Given the description of an element on the screen output the (x, y) to click on. 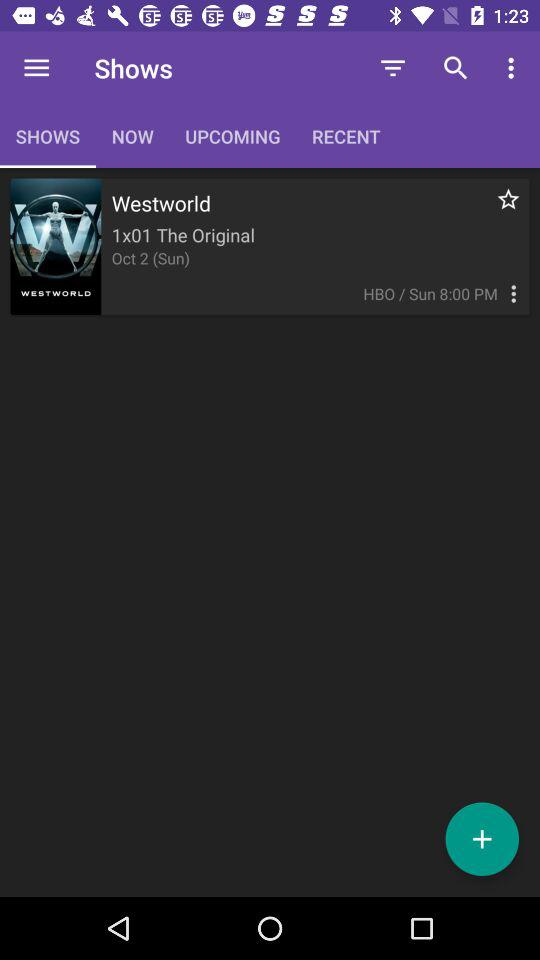
turn off icon to the right of westworld (497, 209)
